Given the description of an element on the screen output the (x, y) to click on. 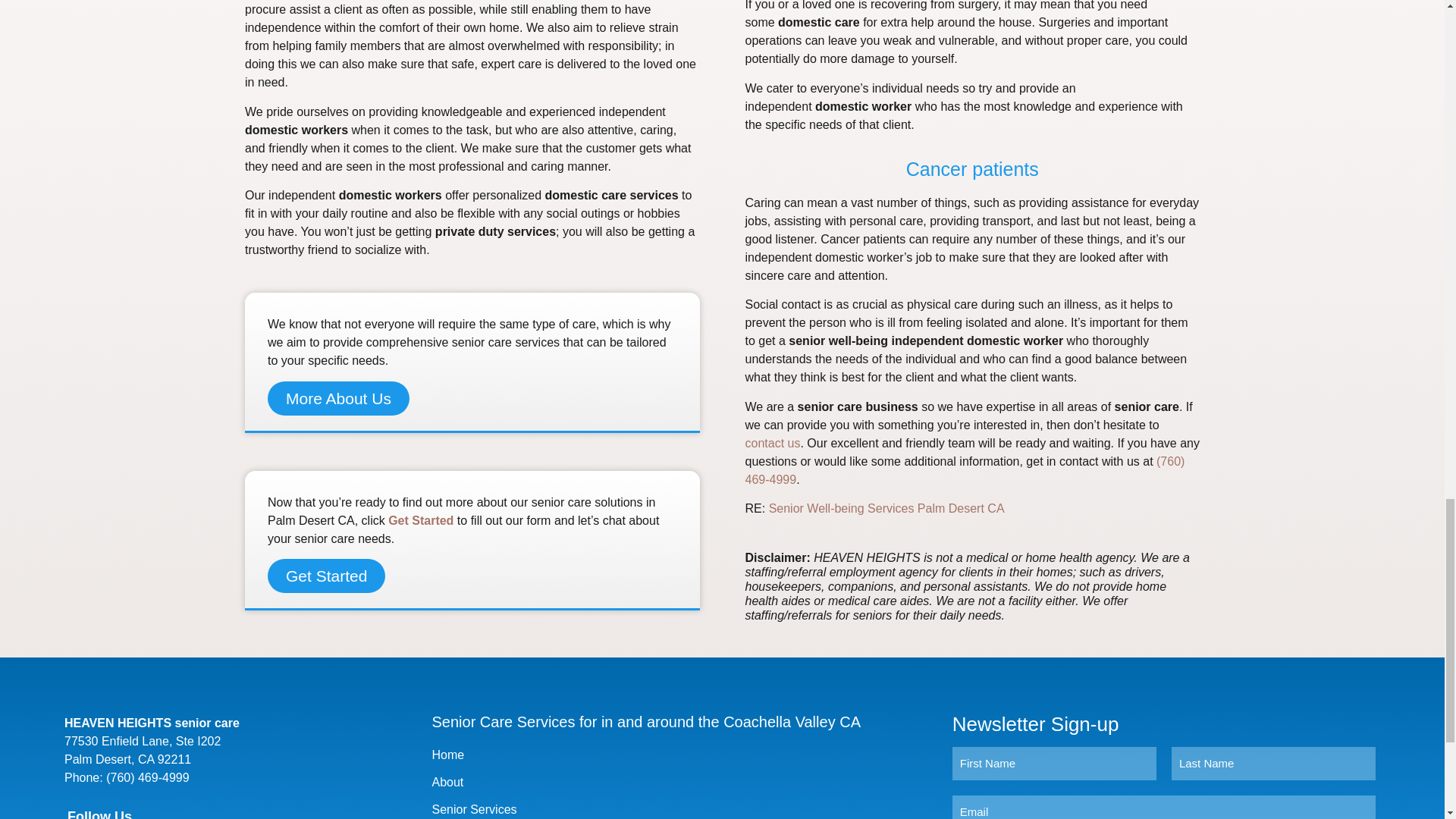
More About Us (338, 398)
Senior Well-being Services Palm Desert CA (886, 508)
Home Health Care Services Carlsbad CA (886, 508)
Get Started (420, 520)
contact us (771, 442)
Get Started (326, 575)
